Given the description of an element on the screen output the (x, y) to click on. 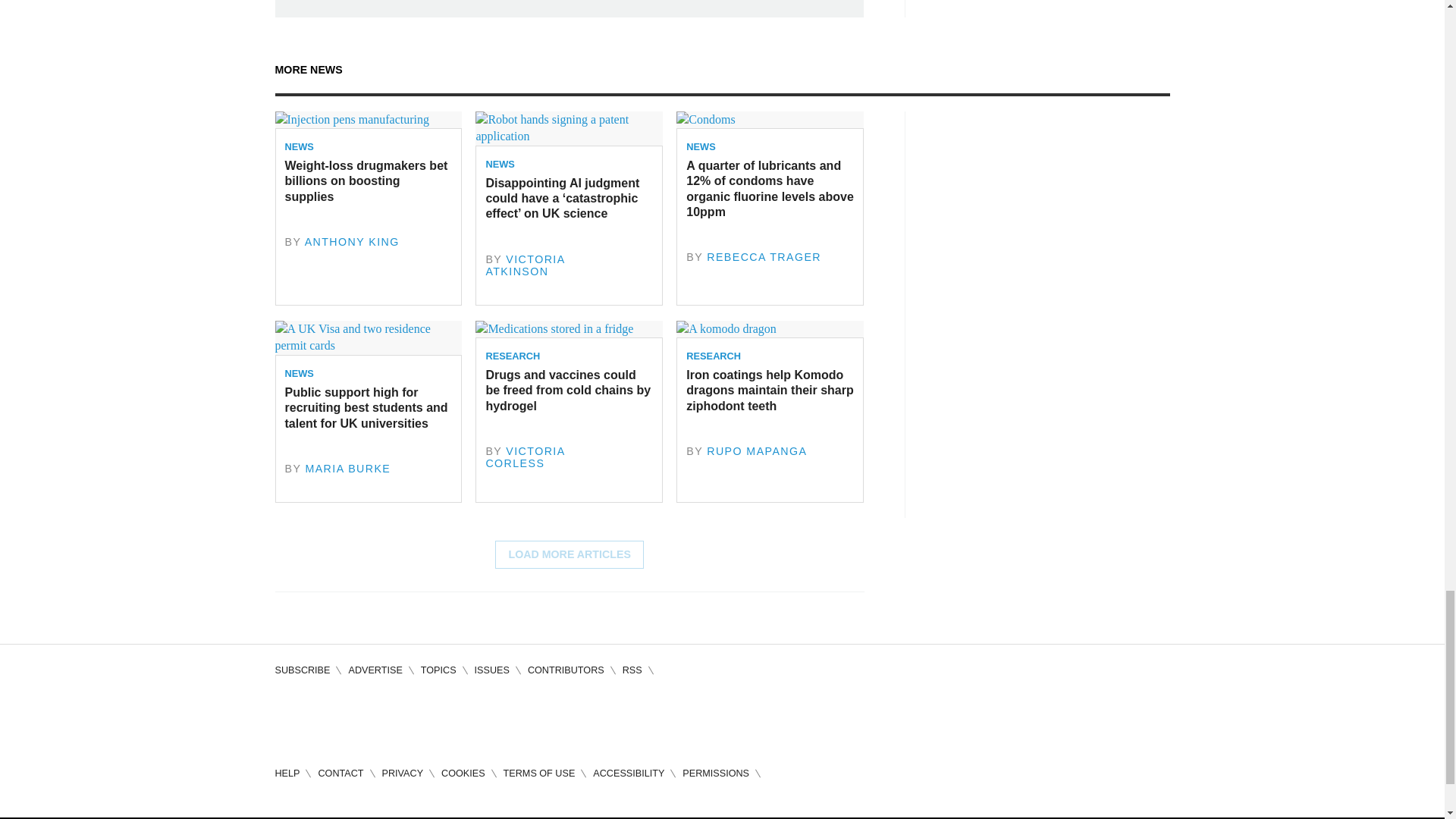
Follow on Facebook (287, 718)
Connect on Linked in (373, 718)
Watch on Vimeo (416, 718)
Follow on Twitter (330, 718)
